Given the description of an element on the screen output the (x, y) to click on. 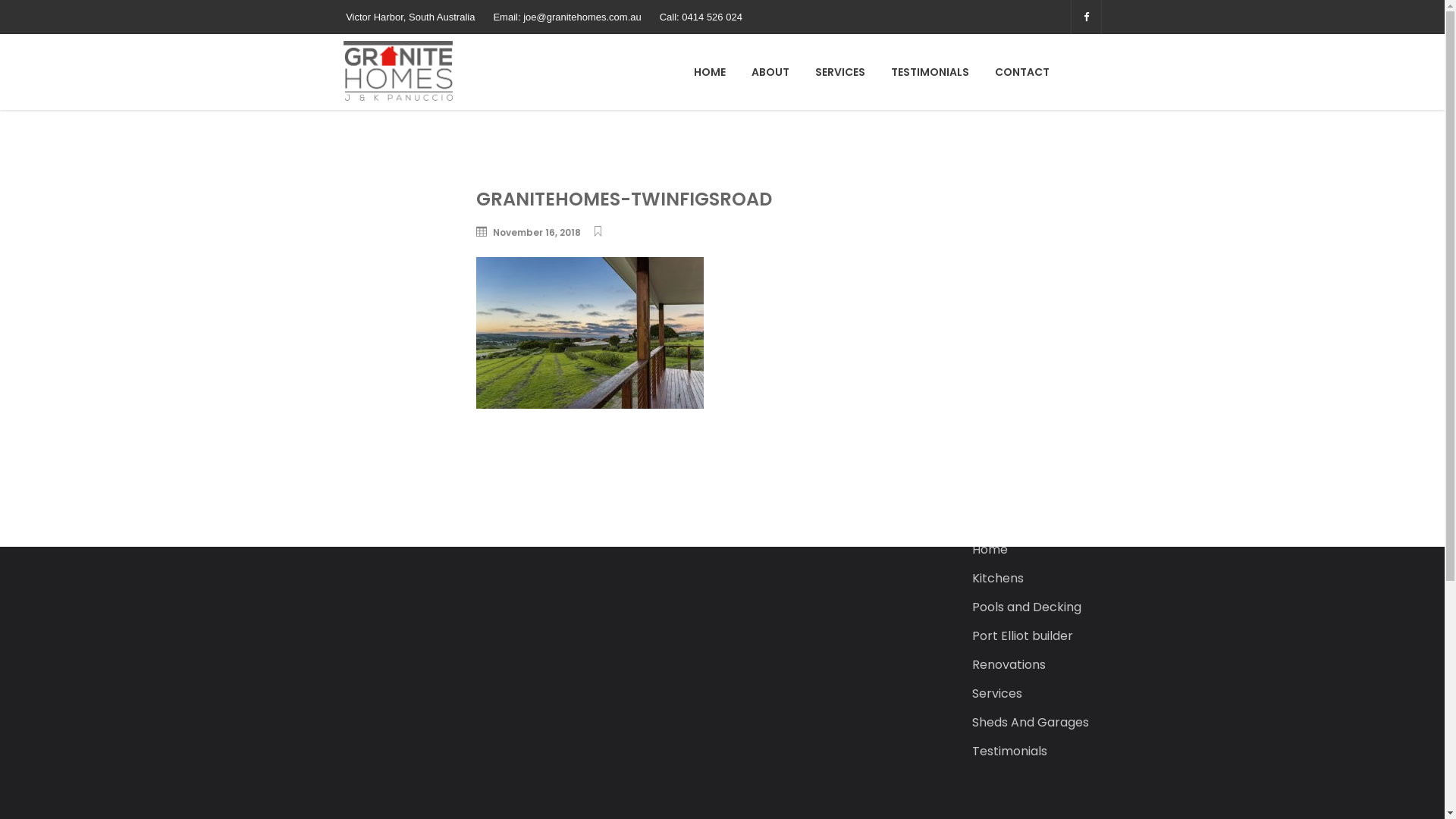
Services Element type: text (997, 693)
ABOUT Element type: text (770, 71)
TESTIMONIALS Element type: text (930, 71)
Port Elliot builder Element type: text (1022, 635)
Renovations Element type: text (1008, 664)
Kitchens Element type: text (997, 578)
Home Element type: text (989, 549)
Goolwa builder Element type: text (1016, 491)
CONTACT Element type: text (1022, 71)
0414 526 024 Element type: text (541, 370)
Testimonials Element type: text (1009, 751)
About Element type: text (990, 347)
Bathrooms Element type: text (1005, 376)
Custom Homes Element type: text (1017, 434)
Contact Element type: text (997, 405)
Encounter Bay builder Element type: text (1037, 462)
Sheds And Garages Element type: text (1030, 722)
SERVICES Element type: text (840, 71)
Goolwa renovations Element type: text (1032, 520)
Pools and Decking Element type: text (1026, 607)
HOME Element type: text (709, 71)
